Given the description of an element on the screen output the (x, y) to click on. 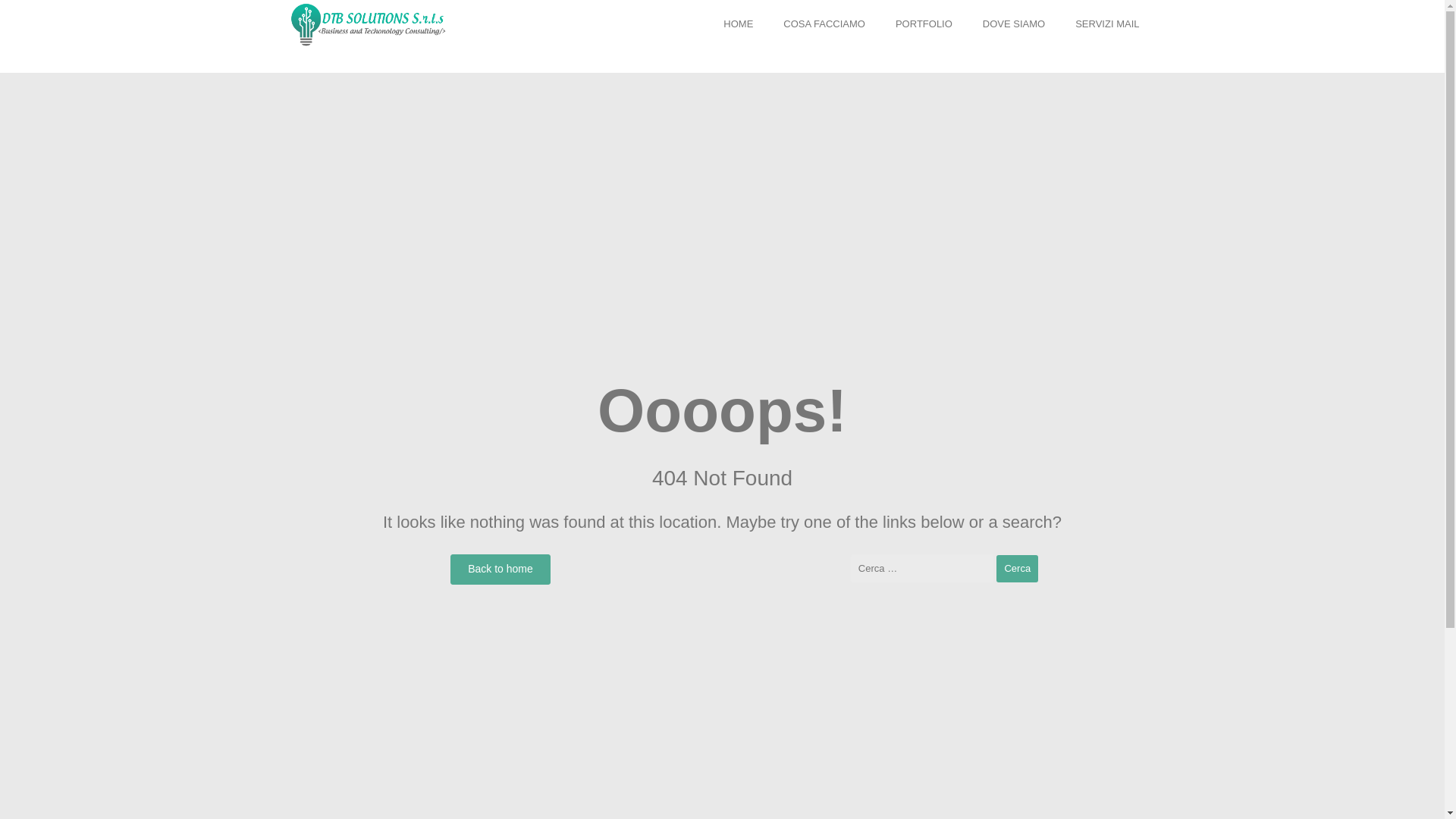
HOME (737, 24)
Dove Siamo (1014, 24)
Cerca (1016, 569)
Portfolio (923, 24)
Back to home (499, 569)
Cosa Facciamo (823, 24)
DOVE SIAMO (1014, 24)
HOME (737, 24)
Cerca (1016, 569)
SERVIZI MAIL (1107, 24)
